Given the description of an element on the screen output the (x, y) to click on. 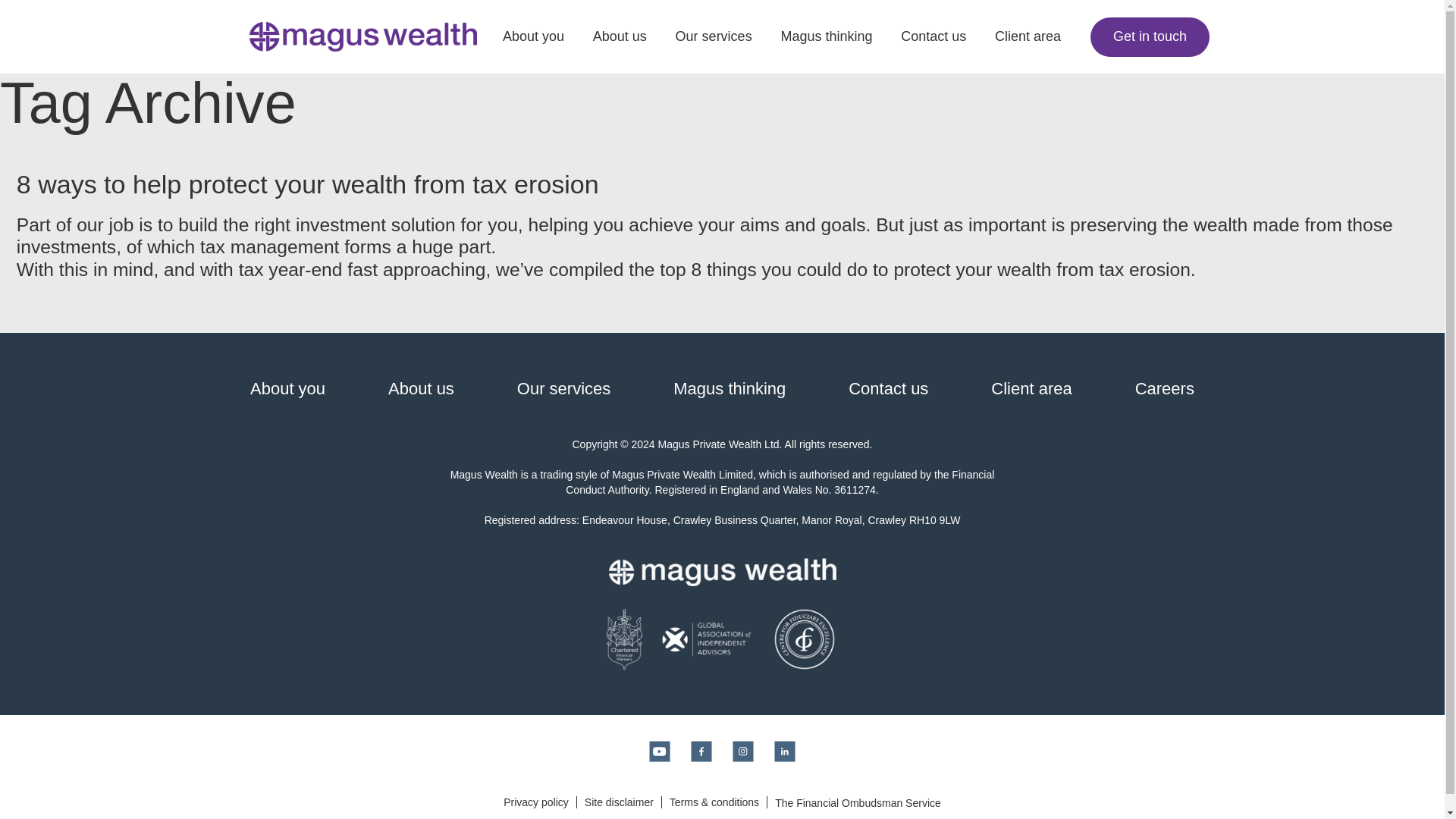
Our services (563, 388)
Client area (1027, 36)
Magus thinking (826, 36)
8 ways to help protect your wealth from tax erosion (307, 184)
Get in touch (1149, 36)
About you (287, 388)
Magus thinking (729, 388)
Our services (714, 36)
Client area (1031, 388)
